Given the description of an element on the screen output the (x, y) to click on. 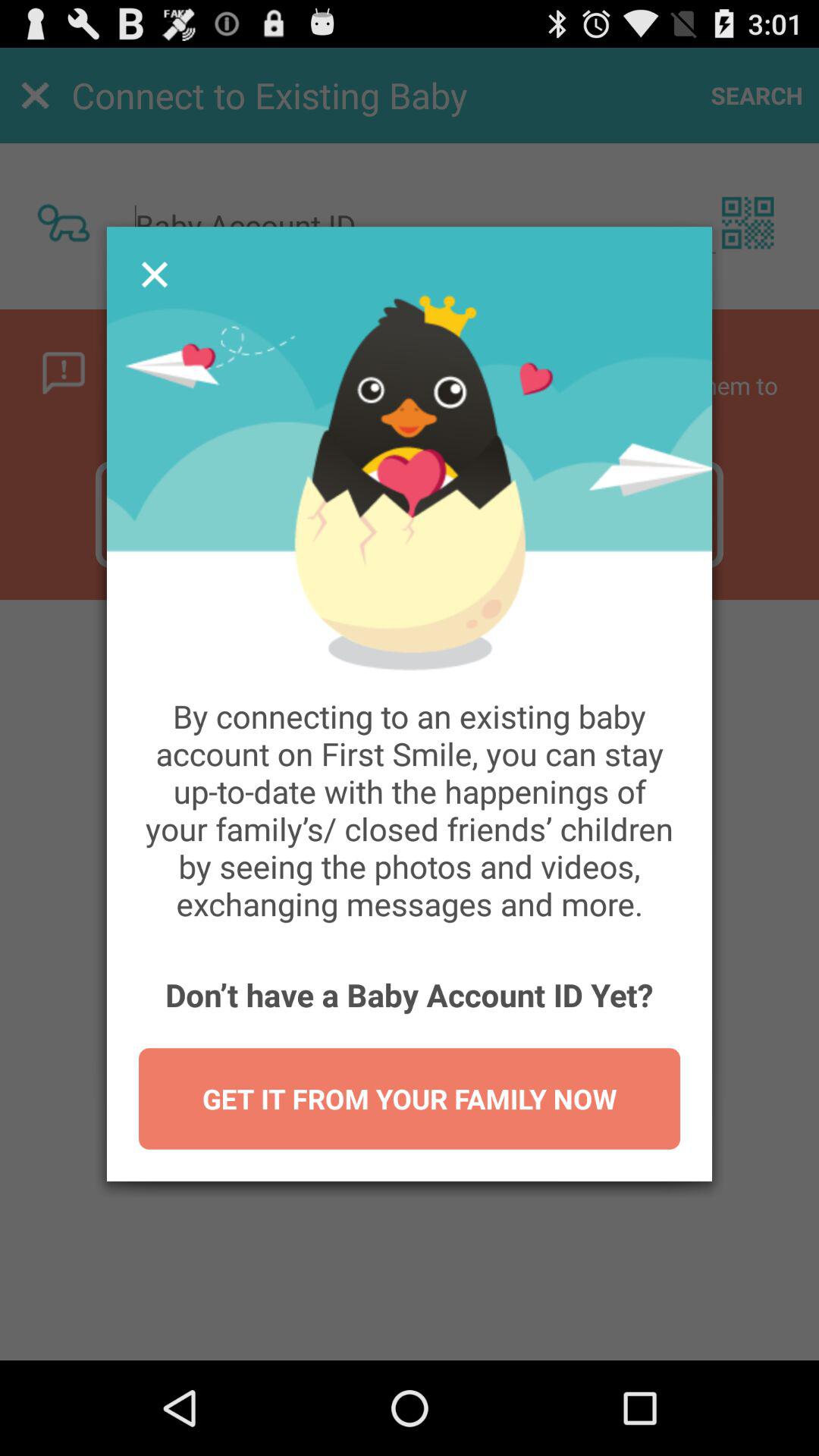
launch the icon at the top left corner (154, 274)
